Given the description of an element on the screen output the (x, y) to click on. 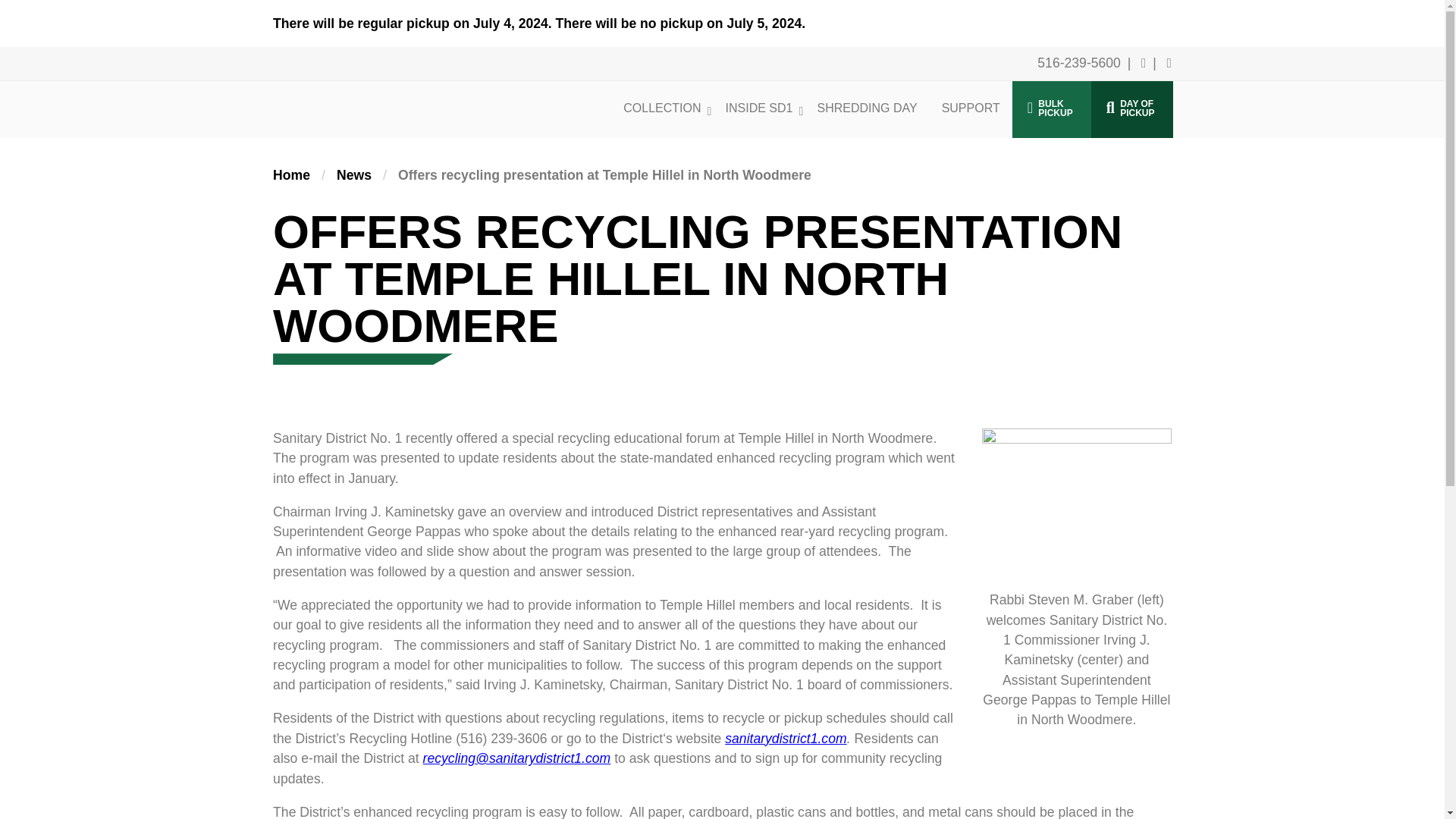
SUPPORT (970, 108)
SHREDDING DAY (866, 108)
Home (1050, 109)
COLLECTION (291, 174)
Home (662, 108)
INSIDE SD1 (291, 174)
SANITARY DISTRICT NO. 1 (759, 108)
sanitarydistrict1.com (346, 89)
News (785, 738)
